Given the description of an element on the screen output the (x, y) to click on. 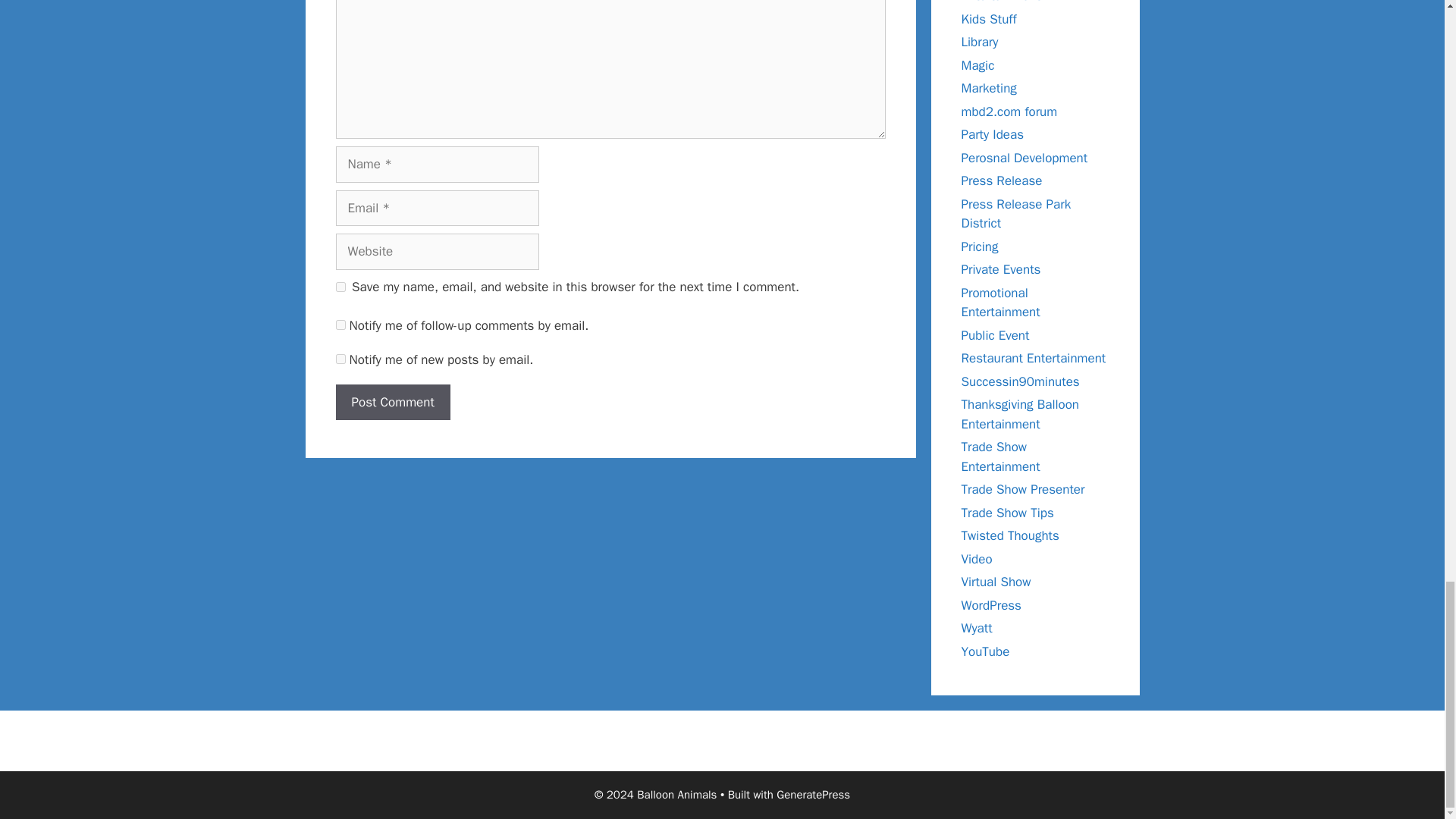
yes (339, 286)
Post Comment (391, 402)
subscribe (339, 325)
Post Comment (391, 402)
subscribe (339, 358)
